Given the description of an element on the screen output the (x, y) to click on. 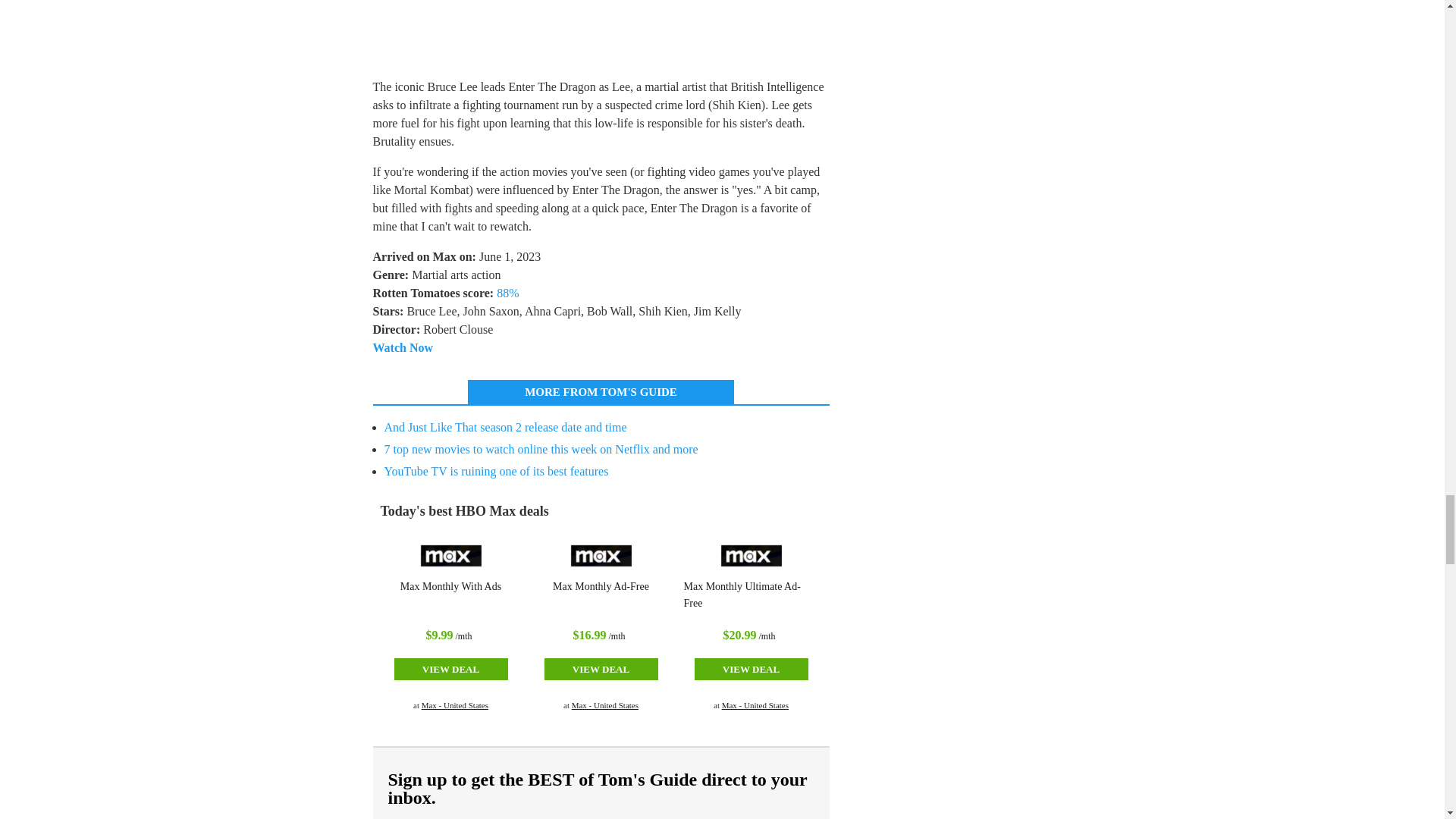
Max (750, 554)
Max (600, 554)
Max (450, 554)
